Given the description of an element on the screen output the (x, y) to click on. 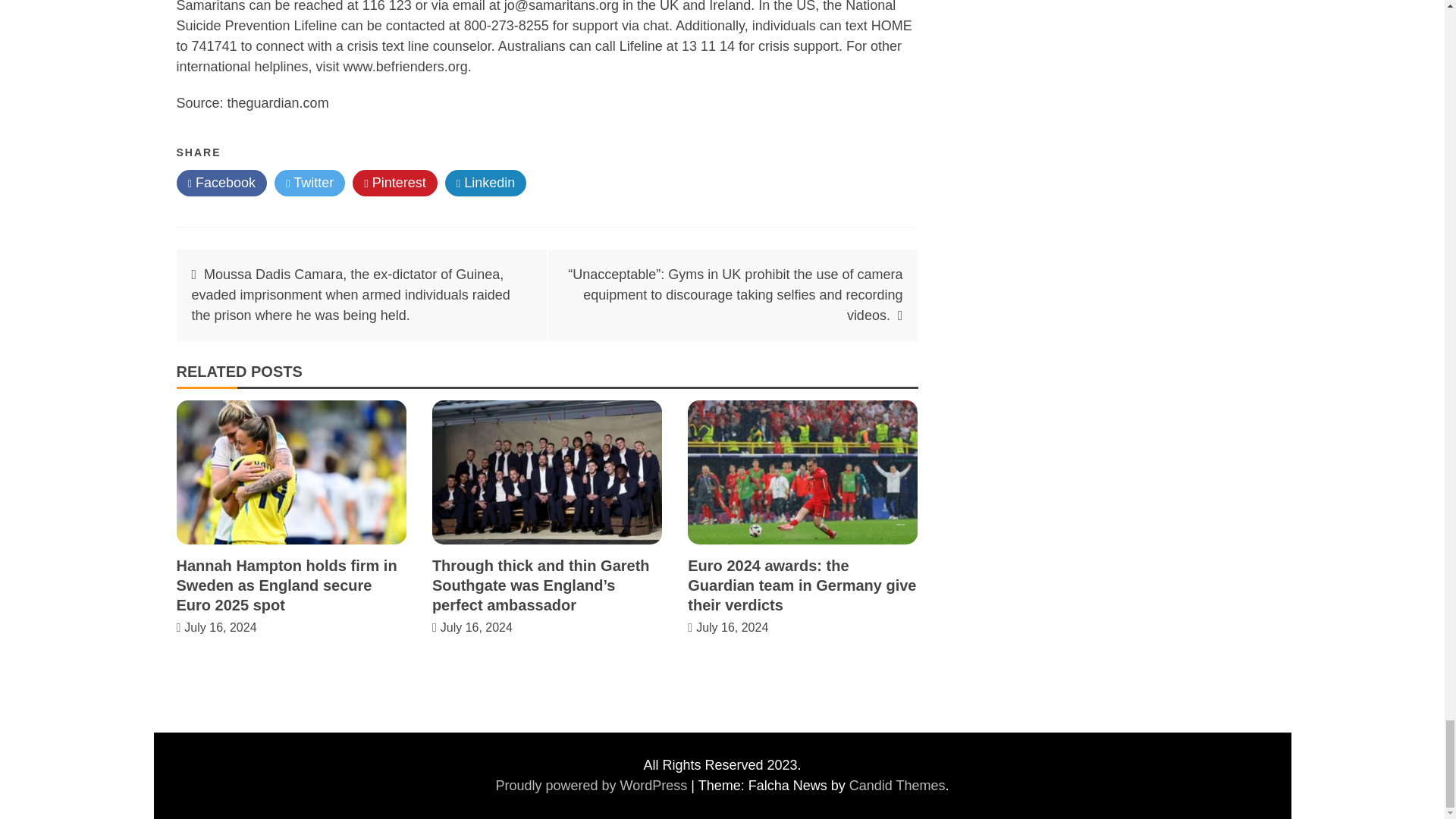
July 16, 2024 (220, 626)
July 16, 2024 (476, 626)
Twitter (310, 182)
Facebook (221, 182)
July 16, 2024 (731, 626)
Linkedin (486, 182)
Pinterest (395, 182)
